Given the description of an element on the screen output the (x, y) to click on. 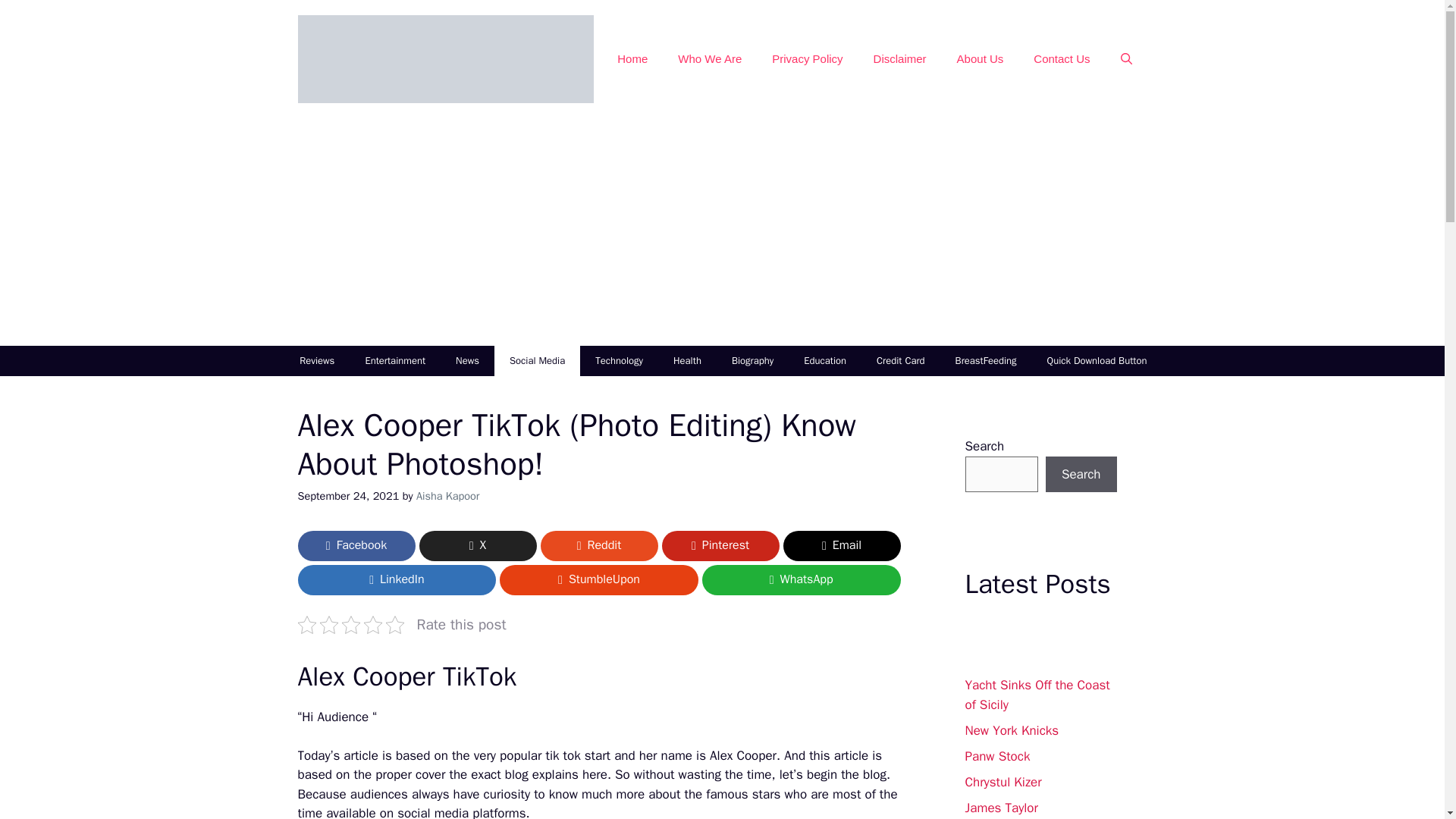
WhatsApp (801, 580)
Health (687, 360)
Aisha Kapoor (448, 495)
Biography (752, 360)
Home (632, 58)
Technology (618, 360)
Education (825, 360)
Who We Are (709, 58)
Credit Card (900, 360)
News (468, 360)
